Given the description of an element on the screen output the (x, y) to click on. 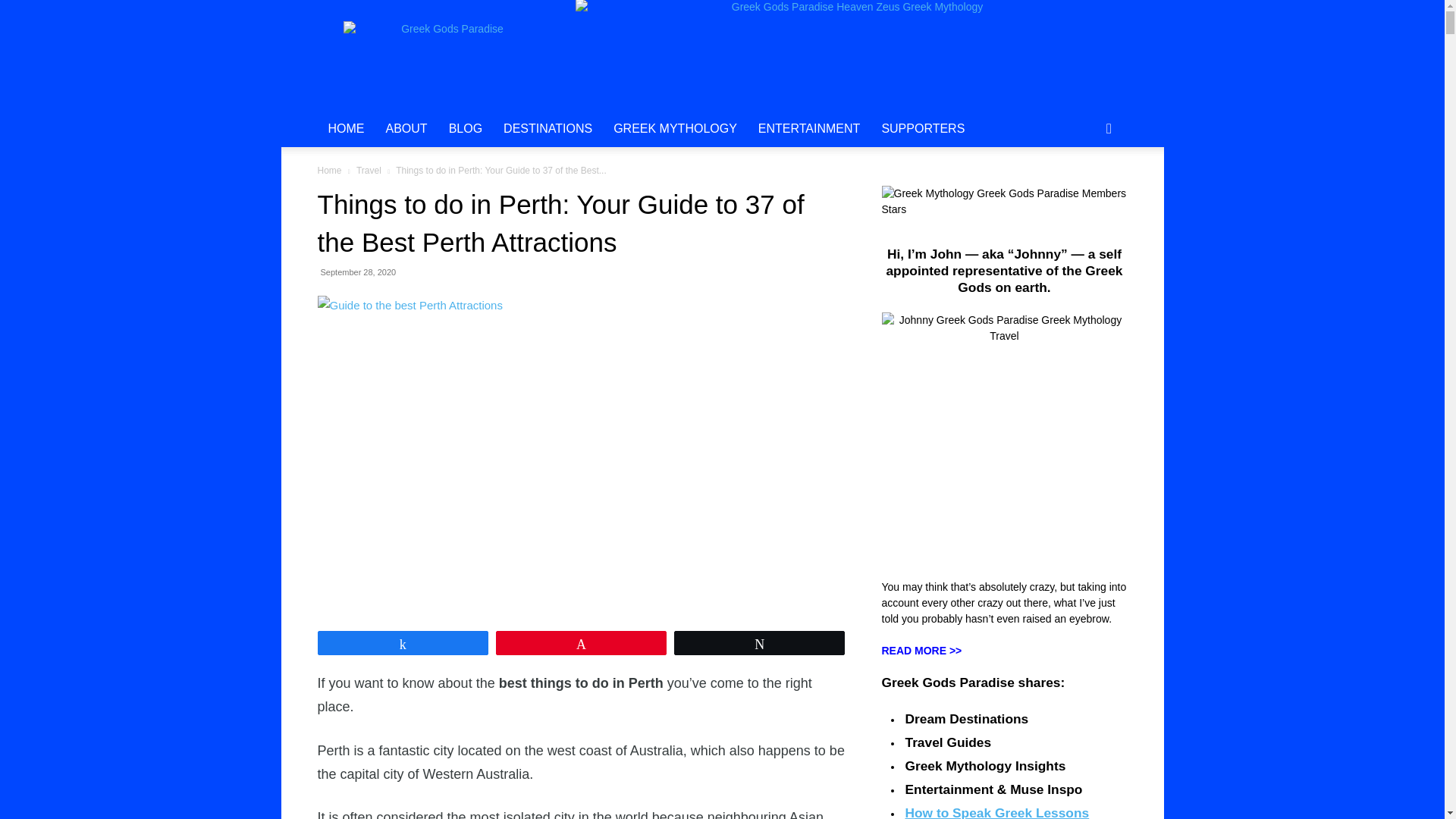
DESTINATIONS (547, 128)
ABOUT (406, 128)
BLOG (465, 128)
View all posts in Travel (368, 170)
HOME (345, 128)
